Given the description of an element on the screen output the (x, y) to click on. 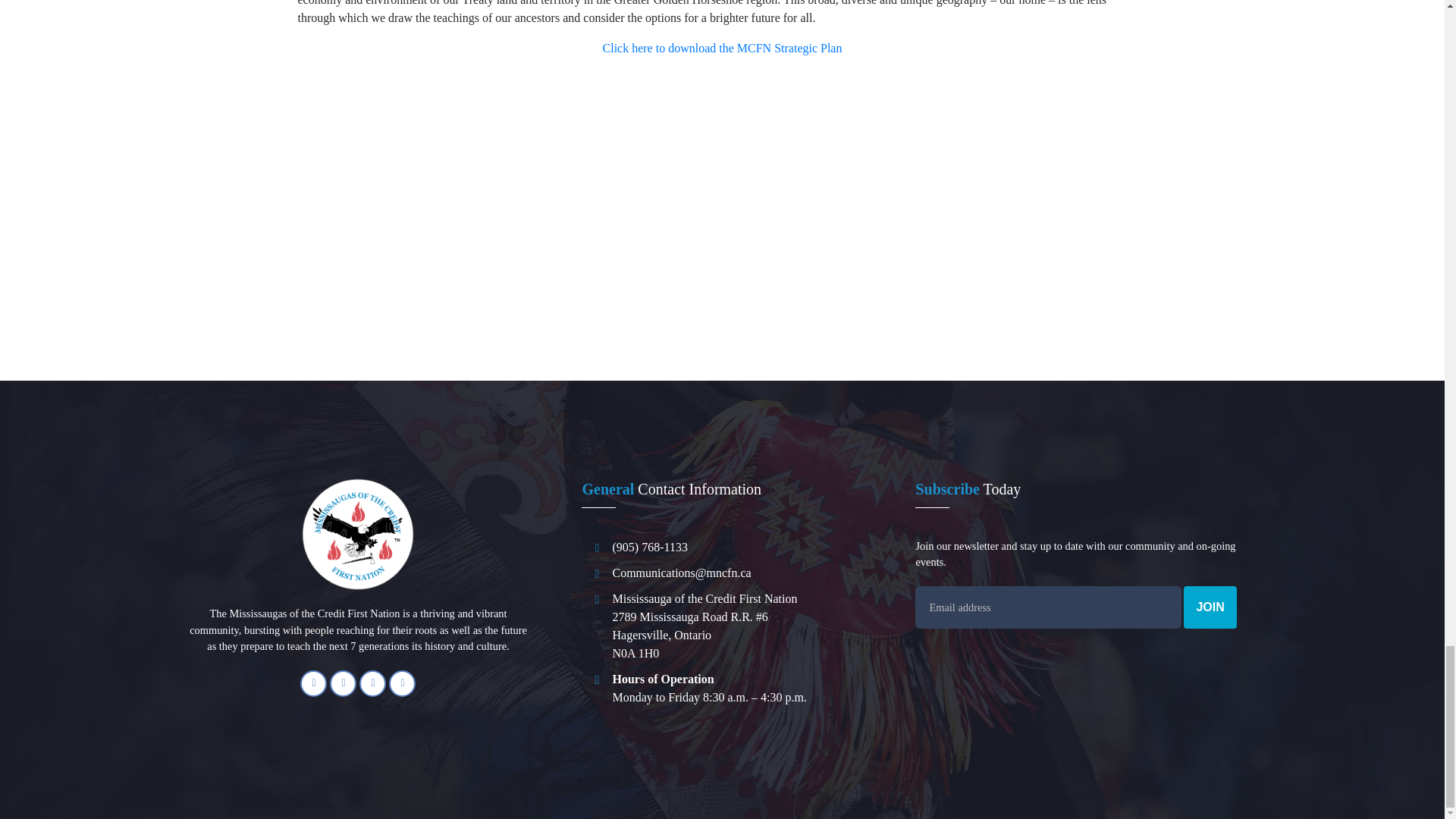
Join (1209, 607)
